Given the description of an element on the screen output the (x, y) to click on. 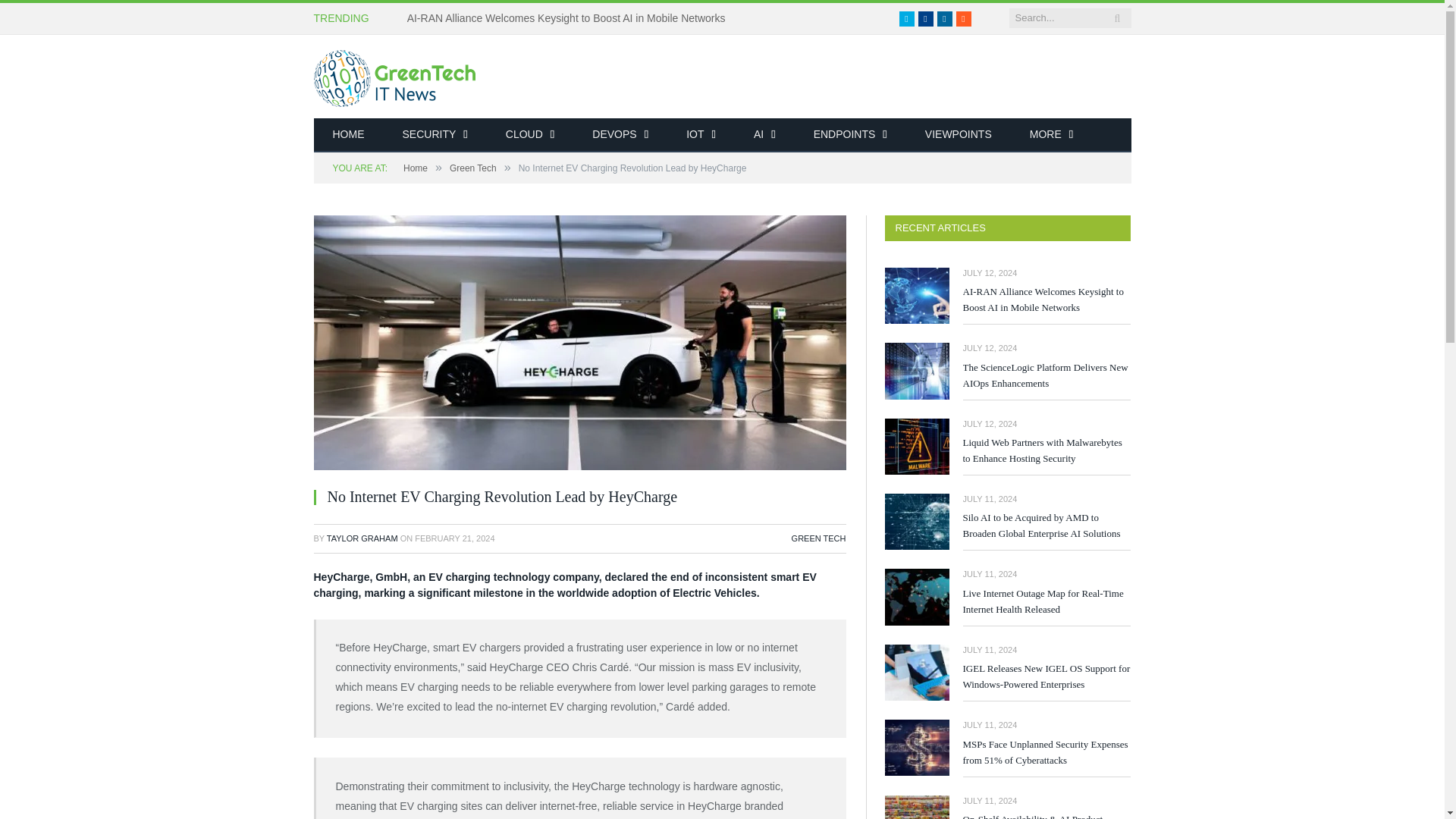
LinkedIn (944, 18)
Home (349, 134)
RSS (963, 18)
CLOUD (529, 134)
Facebook (925, 18)
HOME (349, 134)
RSS (963, 18)
Twitter (906, 18)
Twitter (906, 18)
SECURITY (435, 134)
LinkedIn (944, 18)
Facebook (925, 18)
Digital IT News (395, 75)
